Given the description of an element on the screen output the (x, y) to click on. 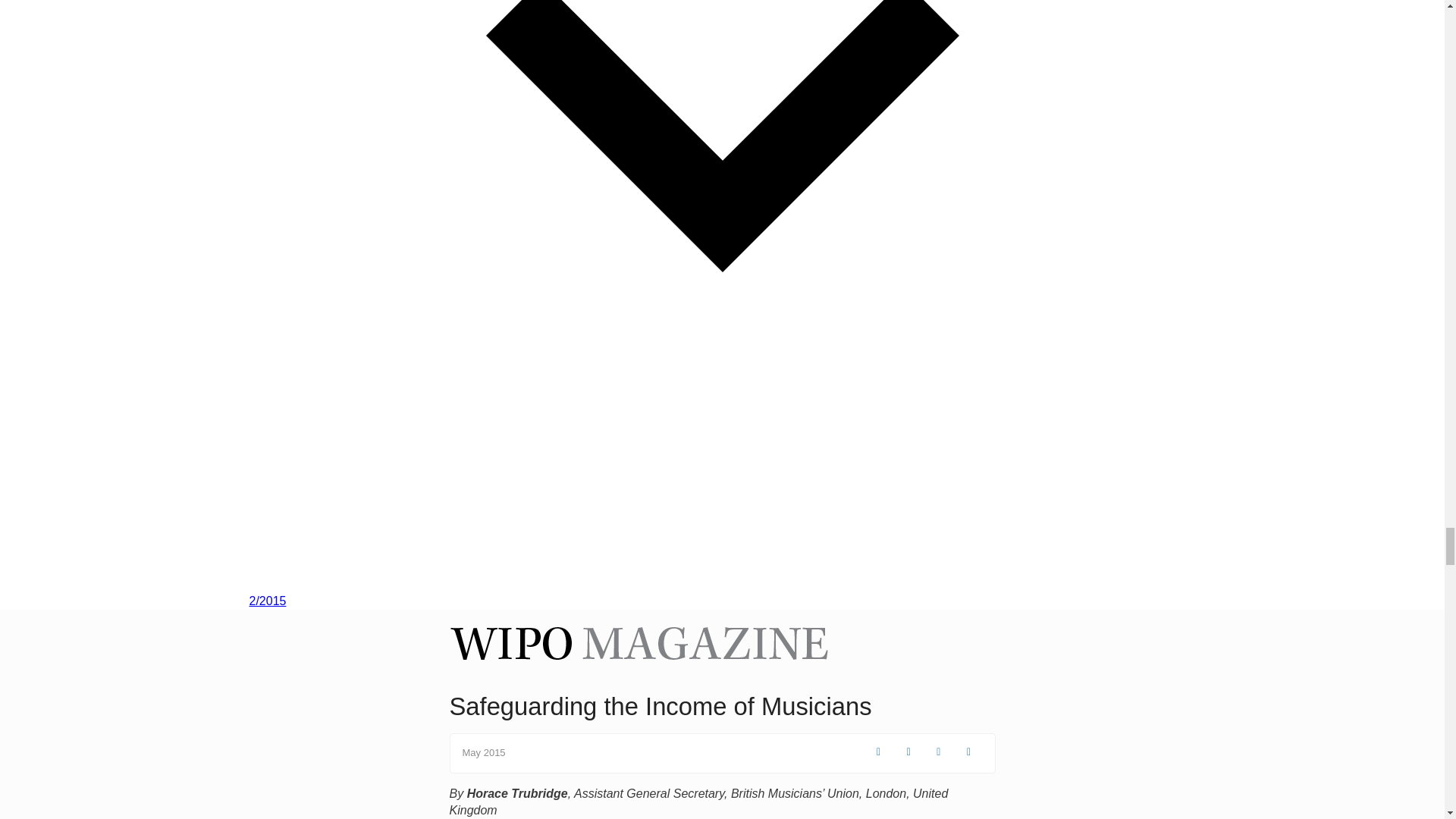
Share by E-Mail (968, 751)
Share by LinkedIn (939, 751)
Share by Twitter (909, 751)
Share by Facebook (879, 751)
